Given the description of an element on the screen output the (x, y) to click on. 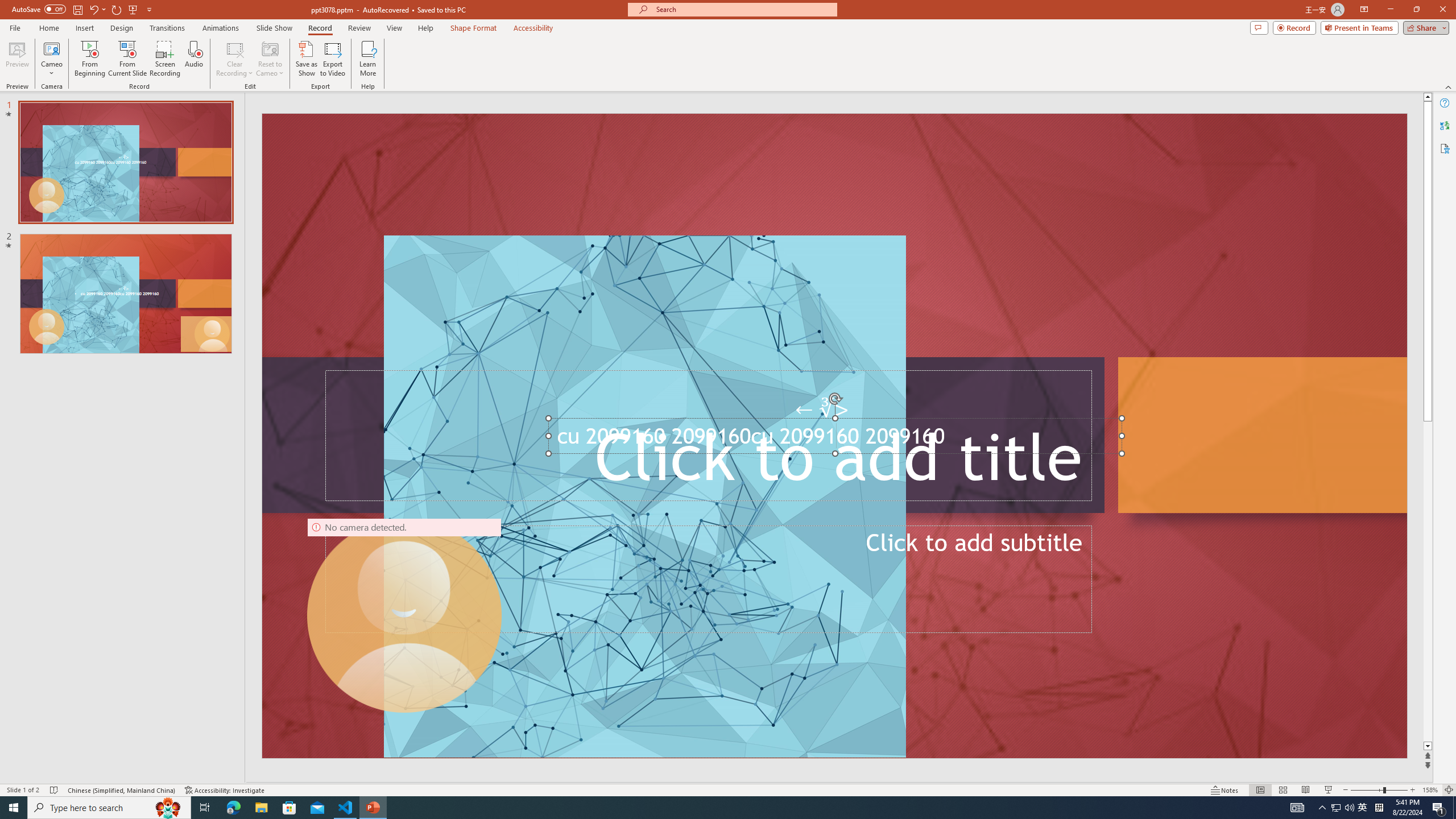
An abstract genetic concept (834, 435)
